Given the description of an element on the screen output the (x, y) to click on. 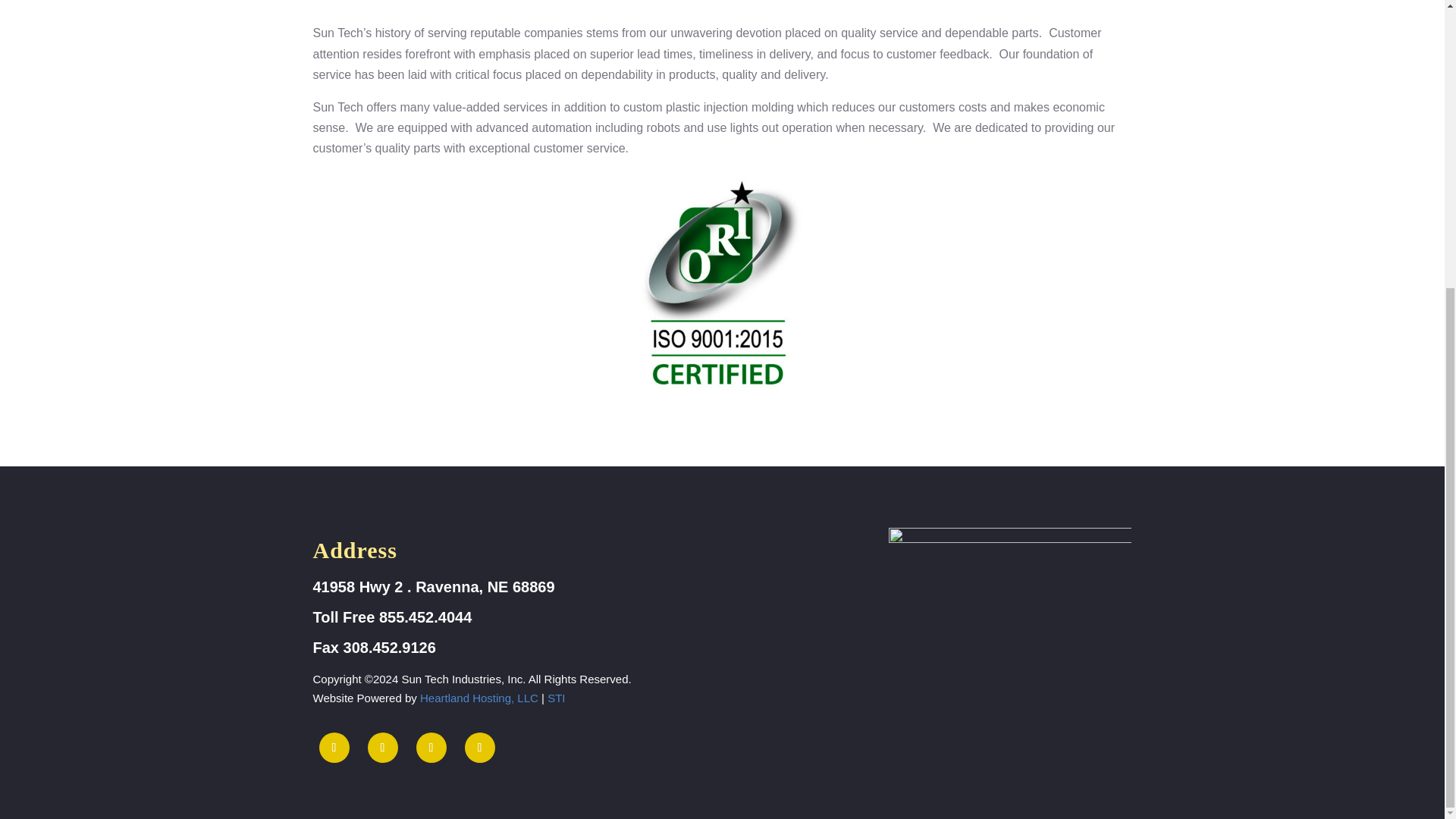
Heartland Hosting, LLC (479, 697)
Follow on X (381, 747)
Follow on Youtube (479, 747)
ISO 9001-2015 (1009, 662)
Follow on Facebook (333, 747)
Follow on Instagram (429, 747)
STI (555, 697)
